Given the description of an element on the screen output the (x, y) to click on. 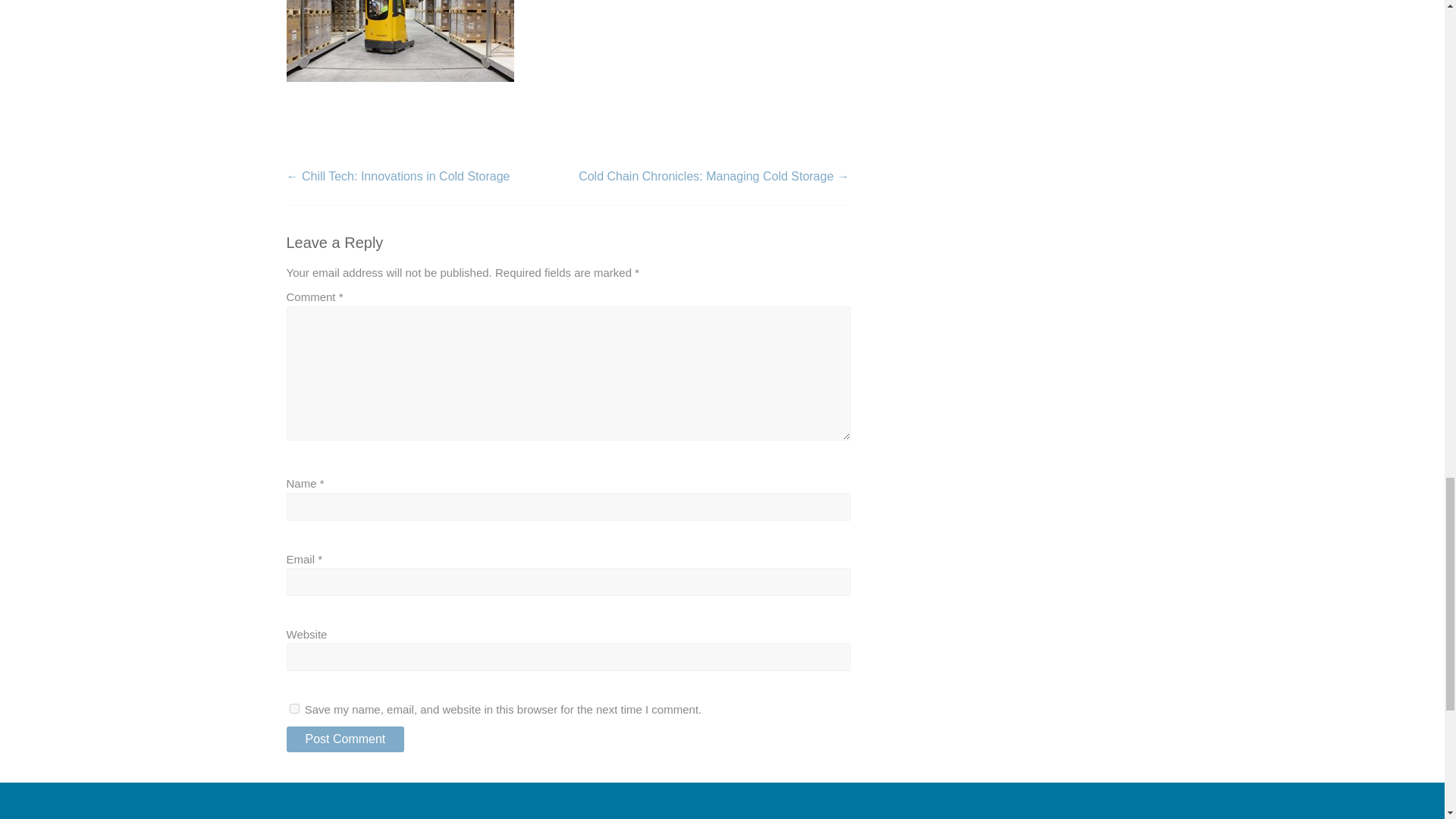
Post Comment (345, 739)
Post Comment (345, 739)
Cold Storage Evolution (399, 40)
yes (294, 708)
